Given the description of an element on the screen output the (x, y) to click on. 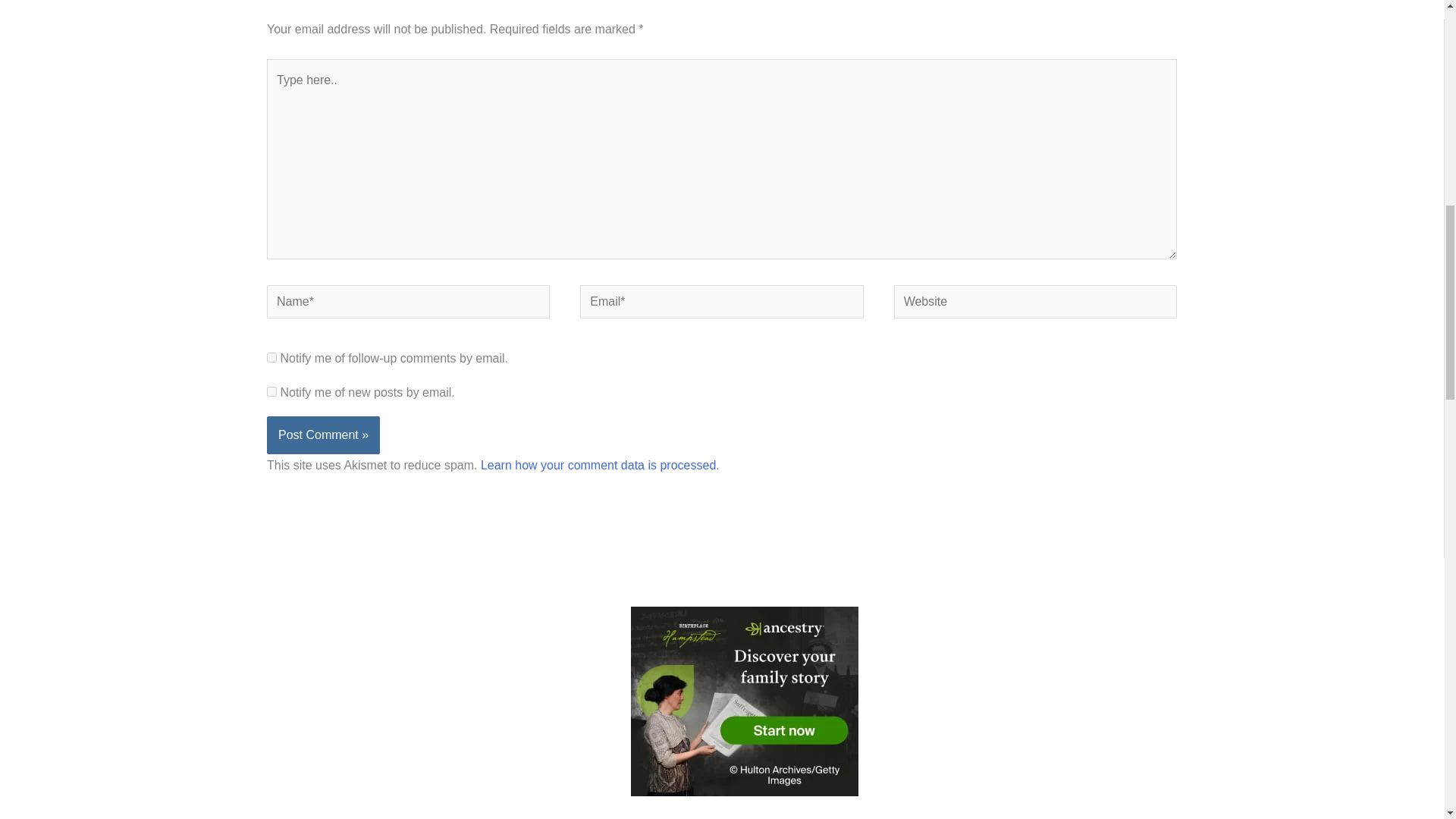
Learn how your comment data is processed (598, 464)
subscribe (271, 357)
subscribe (271, 391)
